Given the description of an element on the screen output the (x, y) to click on. 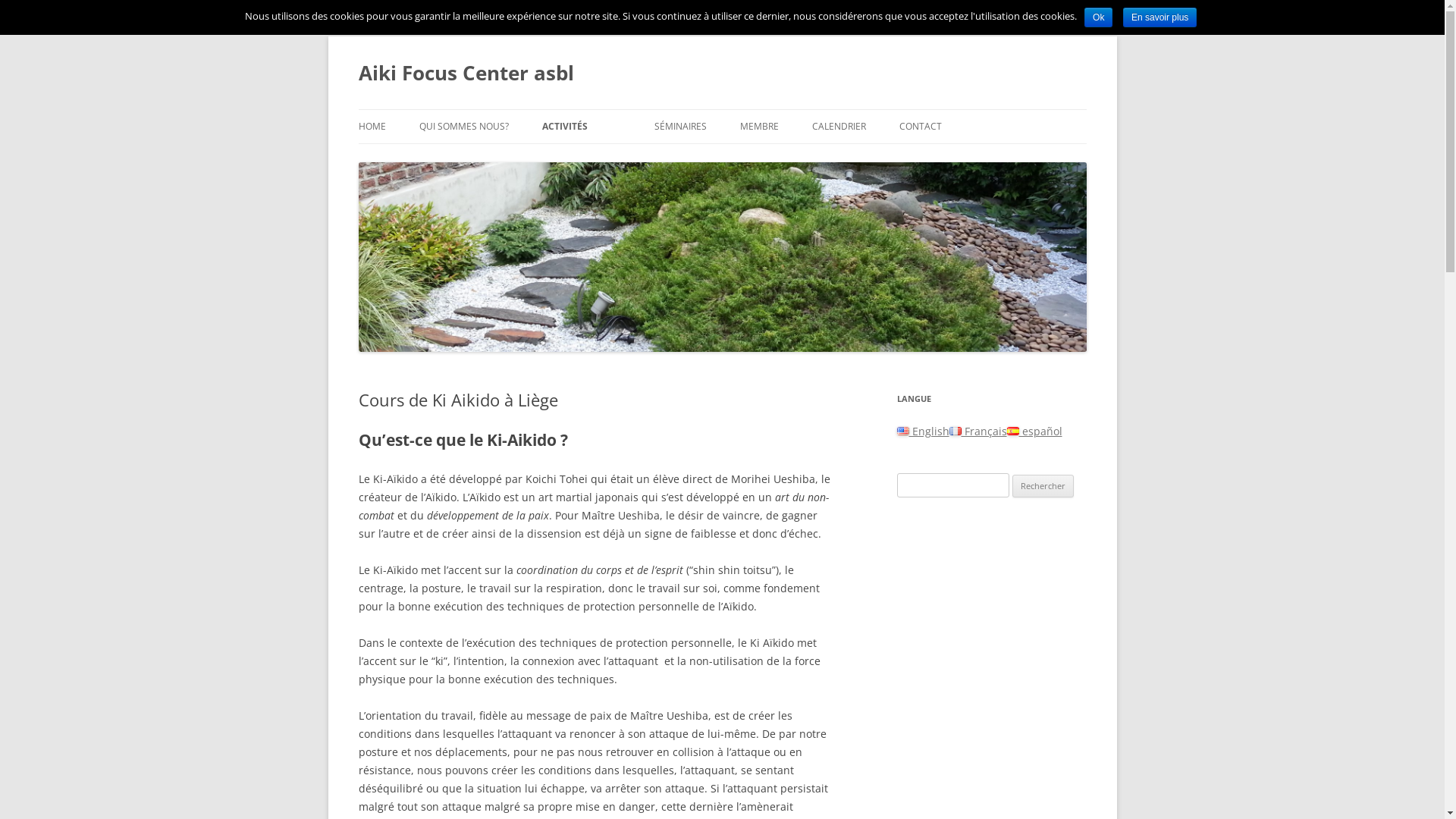
Ok Element type: text (1098, 17)
En savoir plus Element type: text (1159, 17)
HOME Element type: text (371, 126)
CALENDRIER Element type: text (838, 126)
CONTACT Element type: text (920, 126)
Rechercher Element type: text (1042, 485)
MEMBRE Element type: text (759, 126)
Aller au contenu Element type: text (721, 109)
English Element type: text (922, 430)
QUI SOMMES NOUS? Element type: text (463, 126)
Aiki Focus Center asbl Element type: text (465, 72)
